Given the description of an element on the screen output the (x, y) to click on. 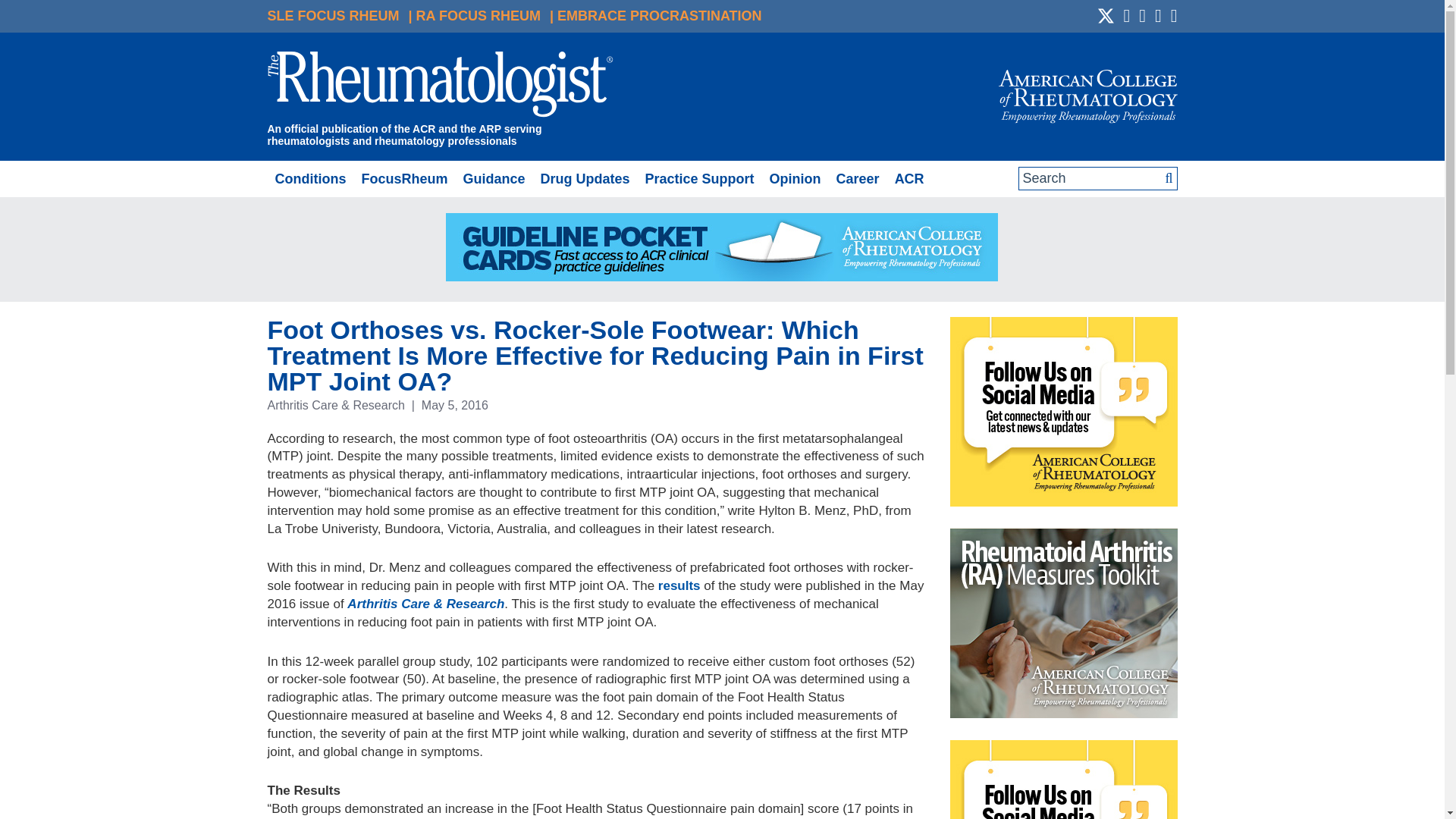
Guidance (493, 178)
FocusRheum (403, 178)
Conditions (309, 178)
The Rheumatologist (439, 86)
SLE FOCUS RHEUM (332, 15)
